Given the description of an element on the screen output the (x, y) to click on. 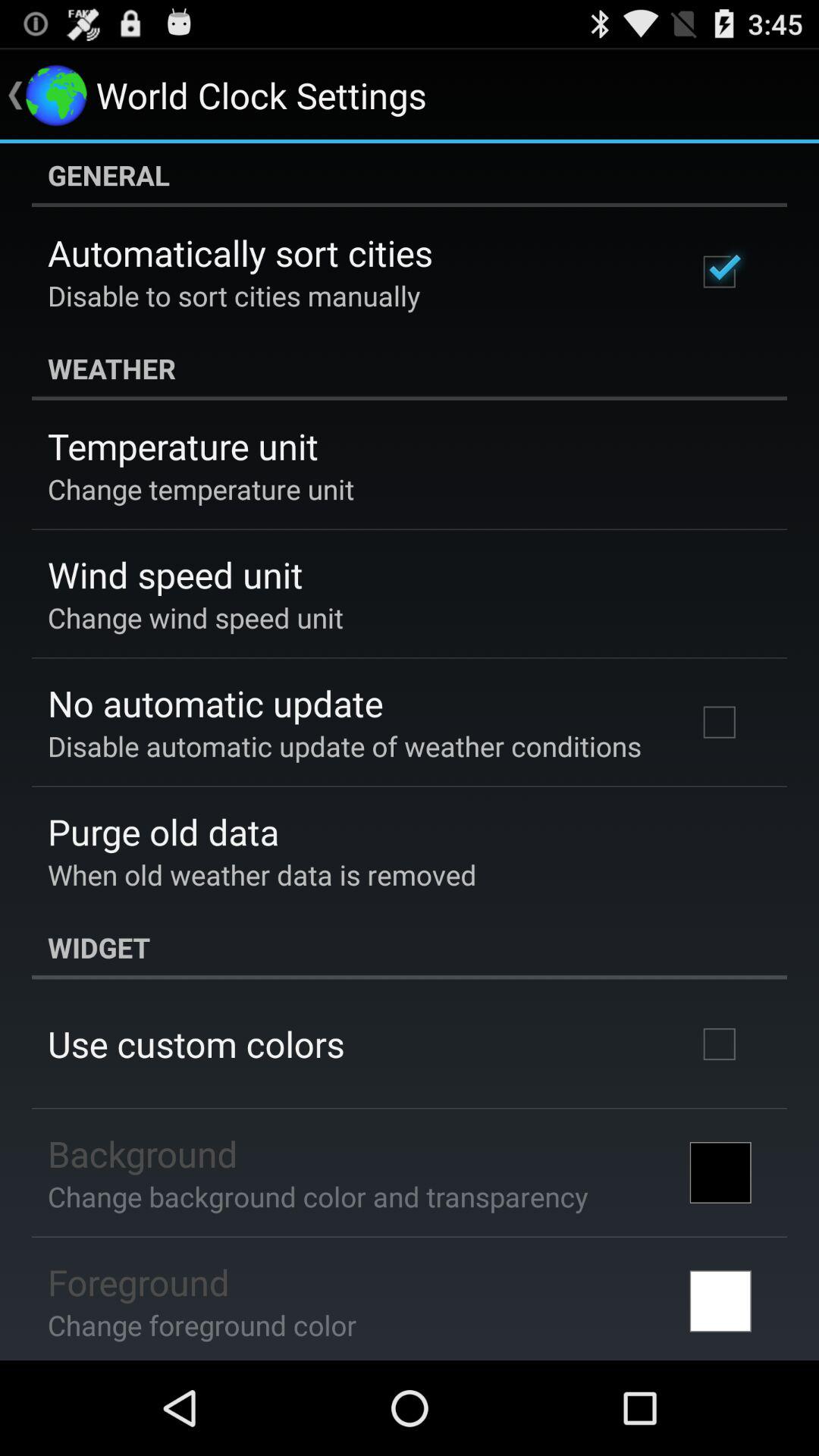
scroll until the when old weather item (261, 874)
